Given the description of an element on the screen output the (x, y) to click on. 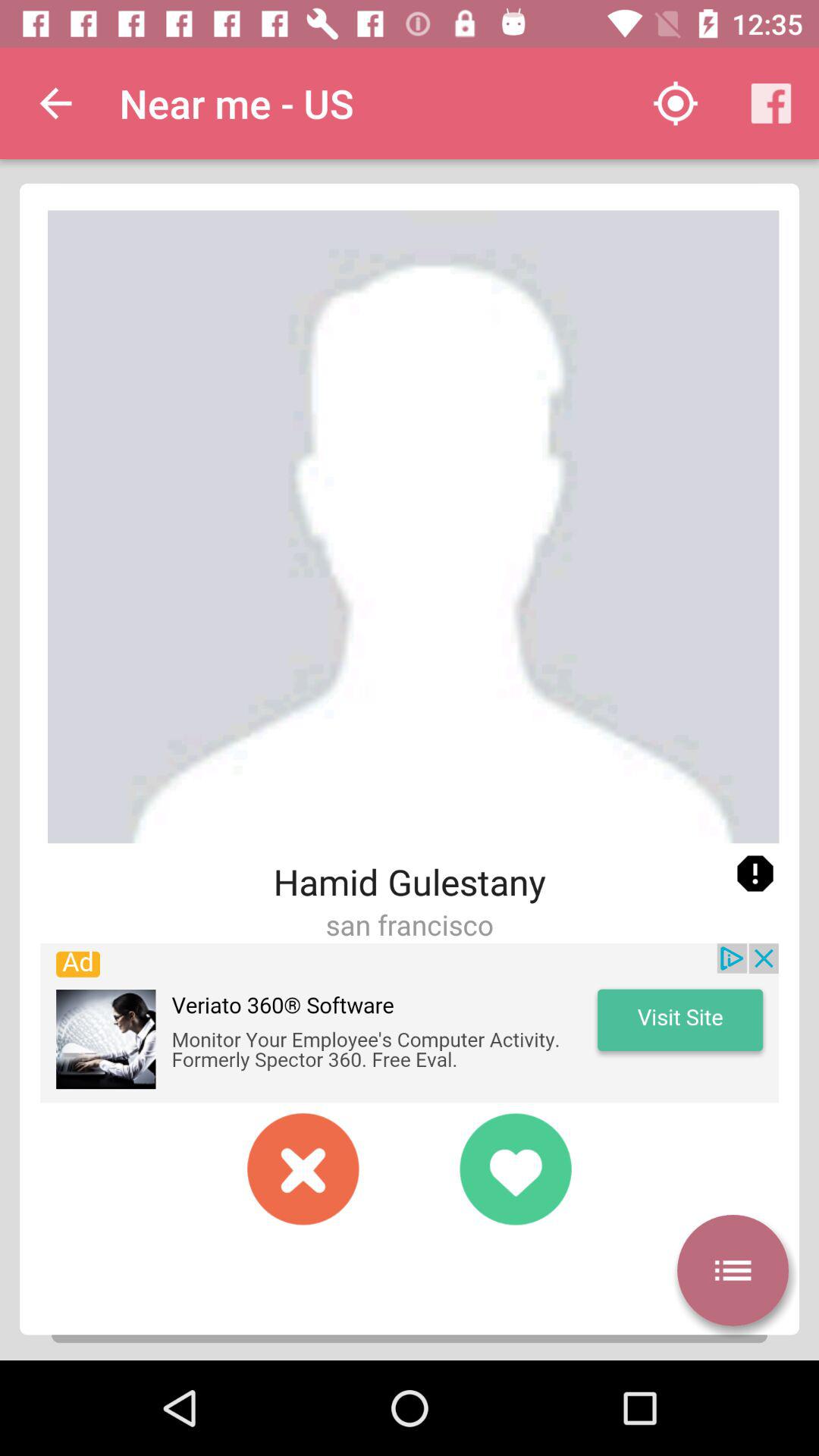
add to favorites (515, 1169)
